Given the description of an element on the screen output the (x, y) to click on. 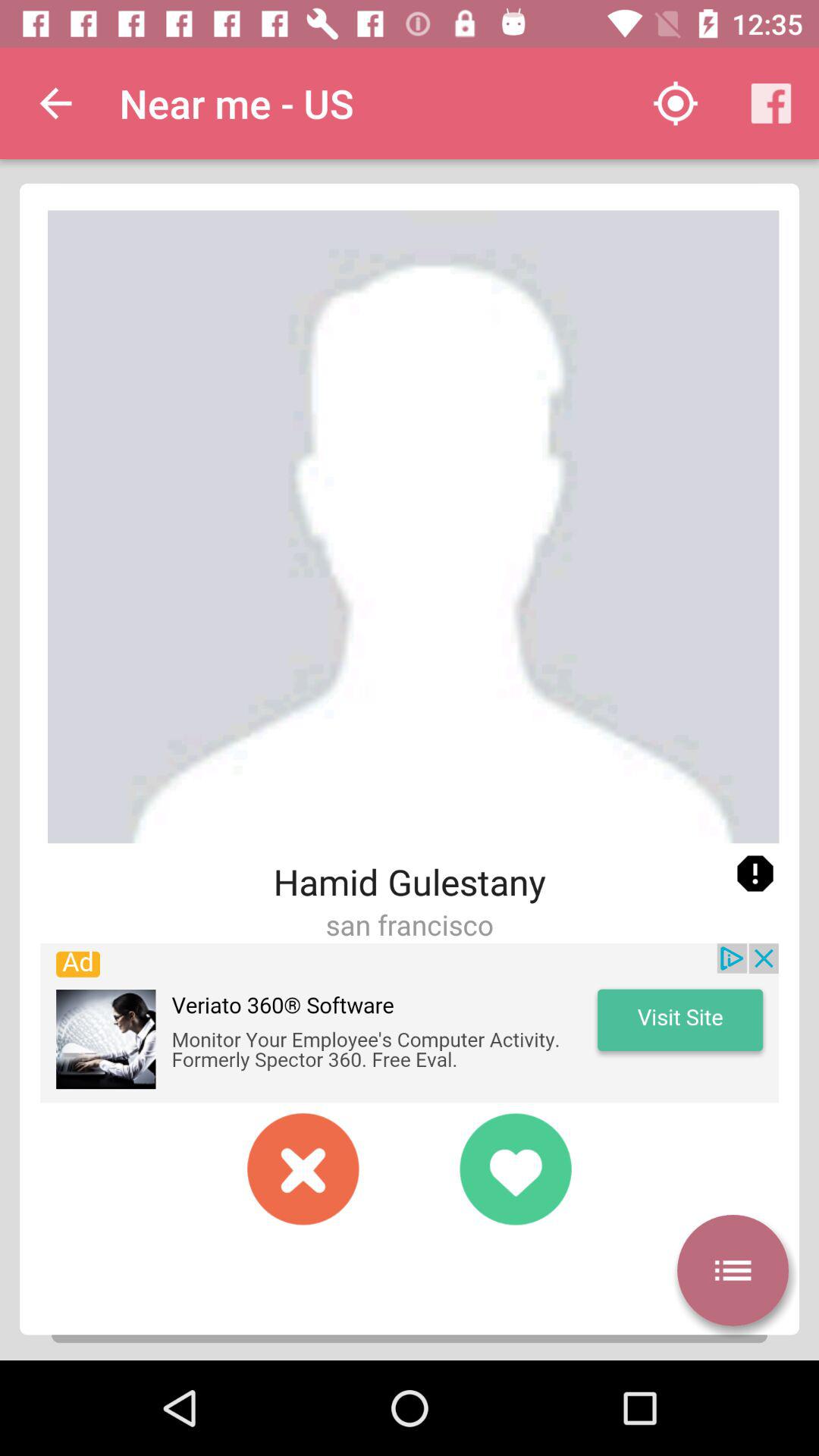
add to favorites (515, 1169)
